Given the description of an element on the screen output the (x, y) to click on. 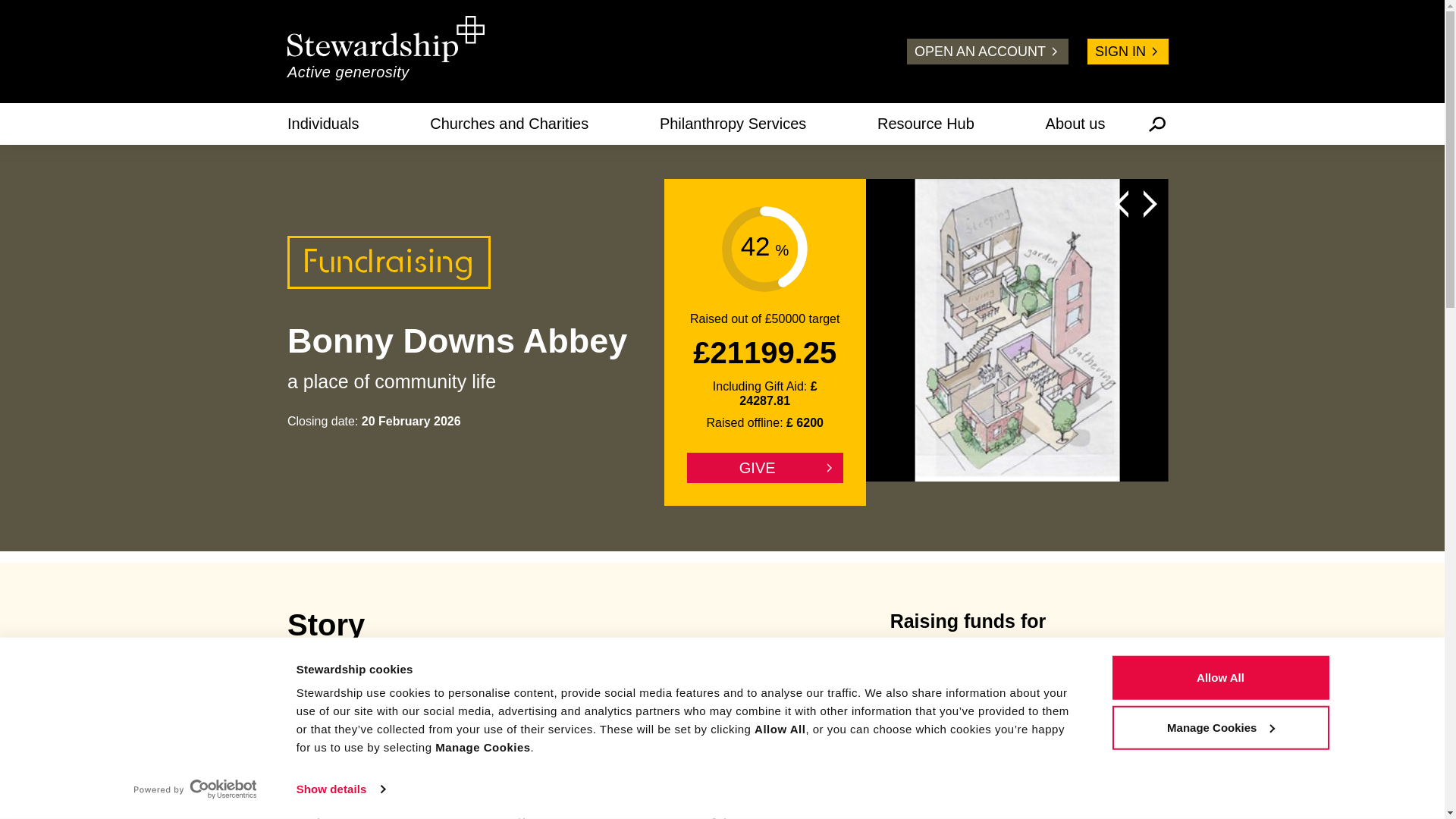
Show details (340, 789)
